Given the description of an element on the screen output the (x, y) to click on. 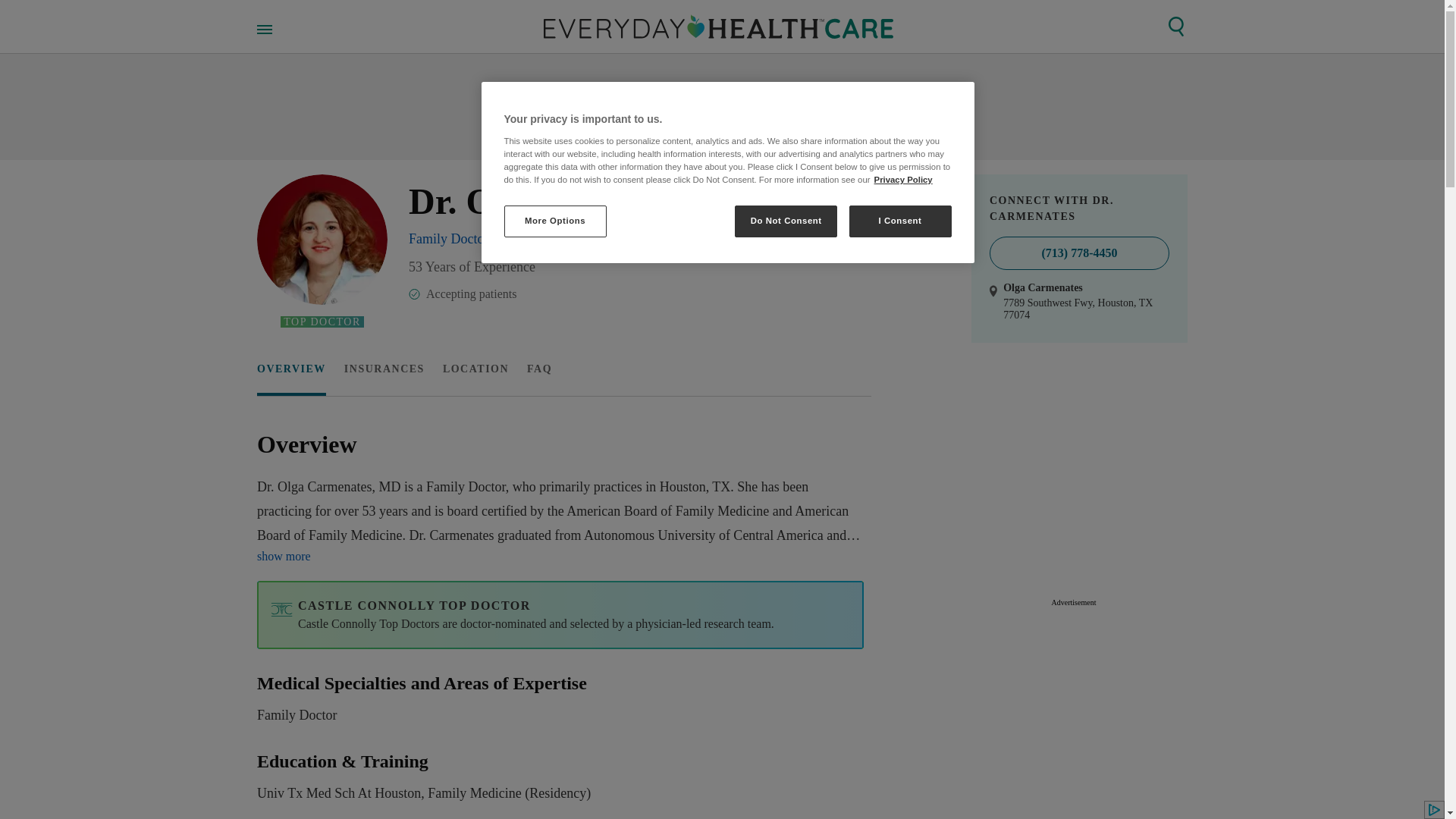
Family Doctor (449, 238)
LOCATION (475, 369)
OVERVIEW (291, 369)
INSURANCES (560, 700)
